Given the description of an element on the screen output the (x, y) to click on. 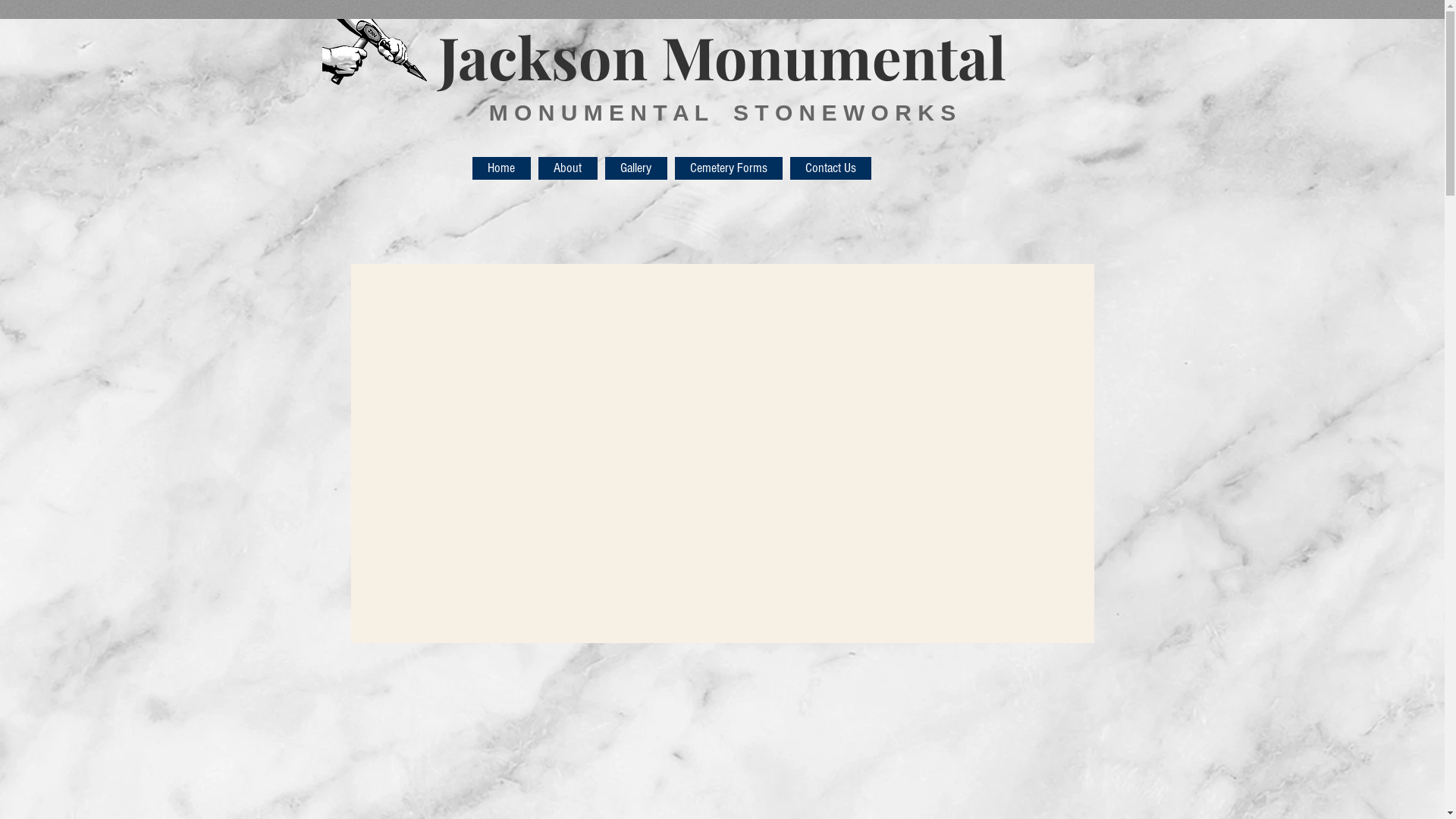
Cemetery Forms Element type: text (728, 167)
Gallery Element type: text (636, 167)
M O N U M E N T A L    S T O N E W O R K S Element type: text (722, 112)
Home Element type: text (500, 167)
About Element type: text (567, 167)
Contact Us Element type: text (830, 167)
